Given the description of an element on the screen output the (x, y) to click on. 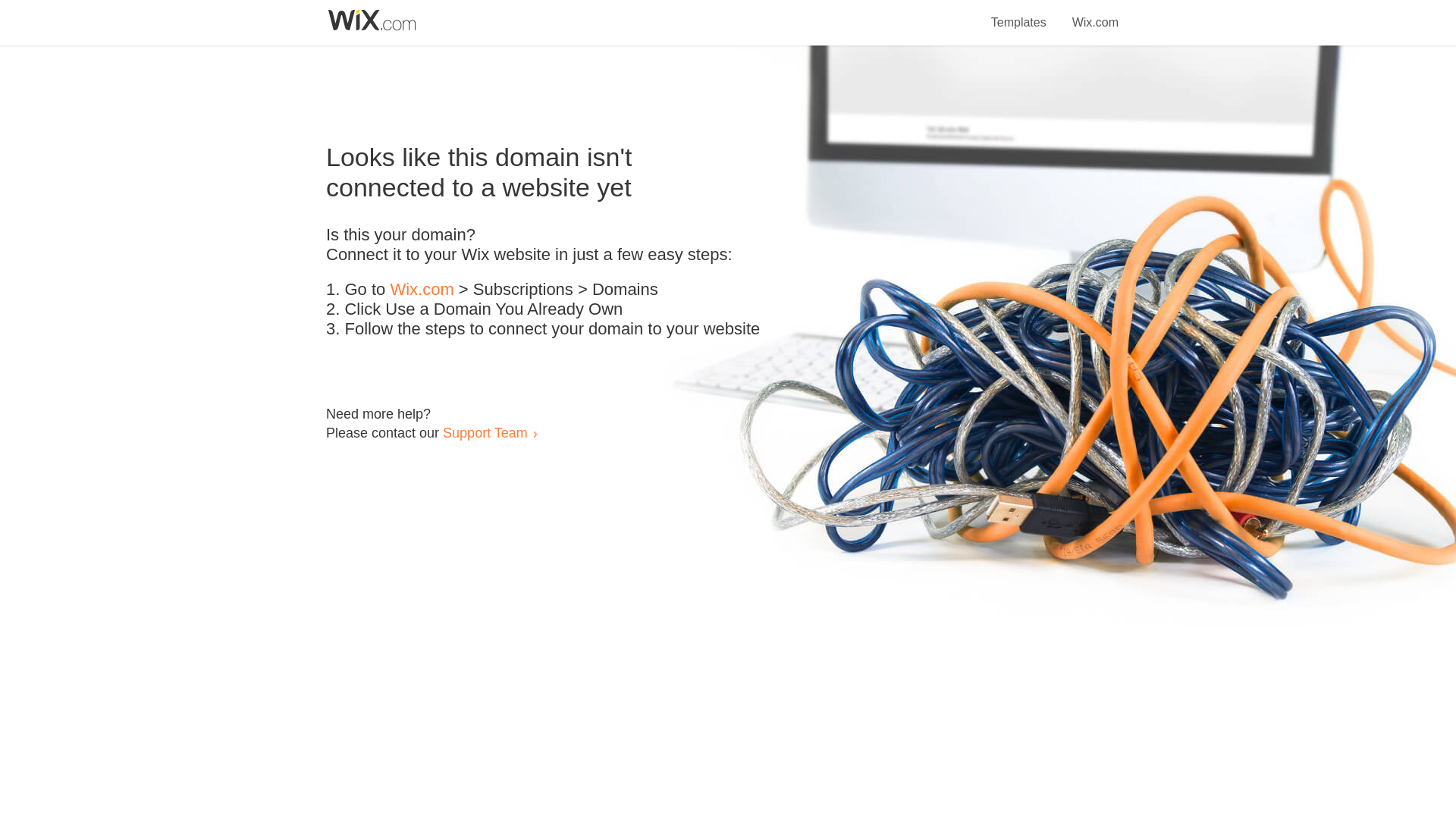
Templates (1018, 14)
Wix.com (1095, 14)
Support Team (484, 432)
Wix.com (421, 289)
